Given the description of an element on the screen output the (x, y) to click on. 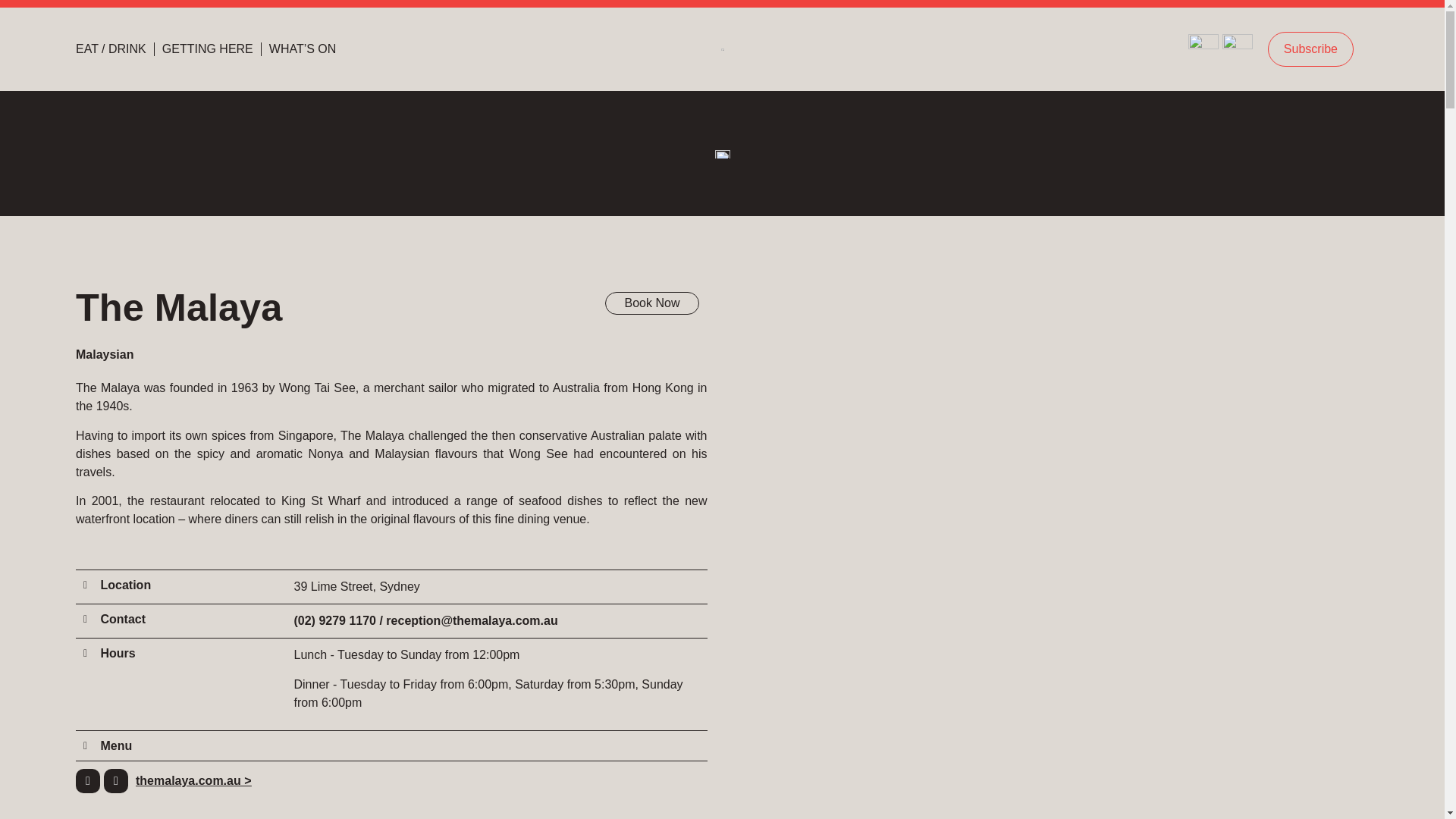
themalaya.com.au > Element type: text (189, 780)
(02) 9279 1170 Element type: text (334, 620)
GETTING HERE Element type: text (207, 49)
Book Now Element type: text (652, 302)
Subscribe Element type: text (1310, 48)
reception@themalaya.com.au Element type: text (471, 620)
EAT / DRINK Element type: text (110, 49)
